Given the description of an element on the screen output the (x, y) to click on. 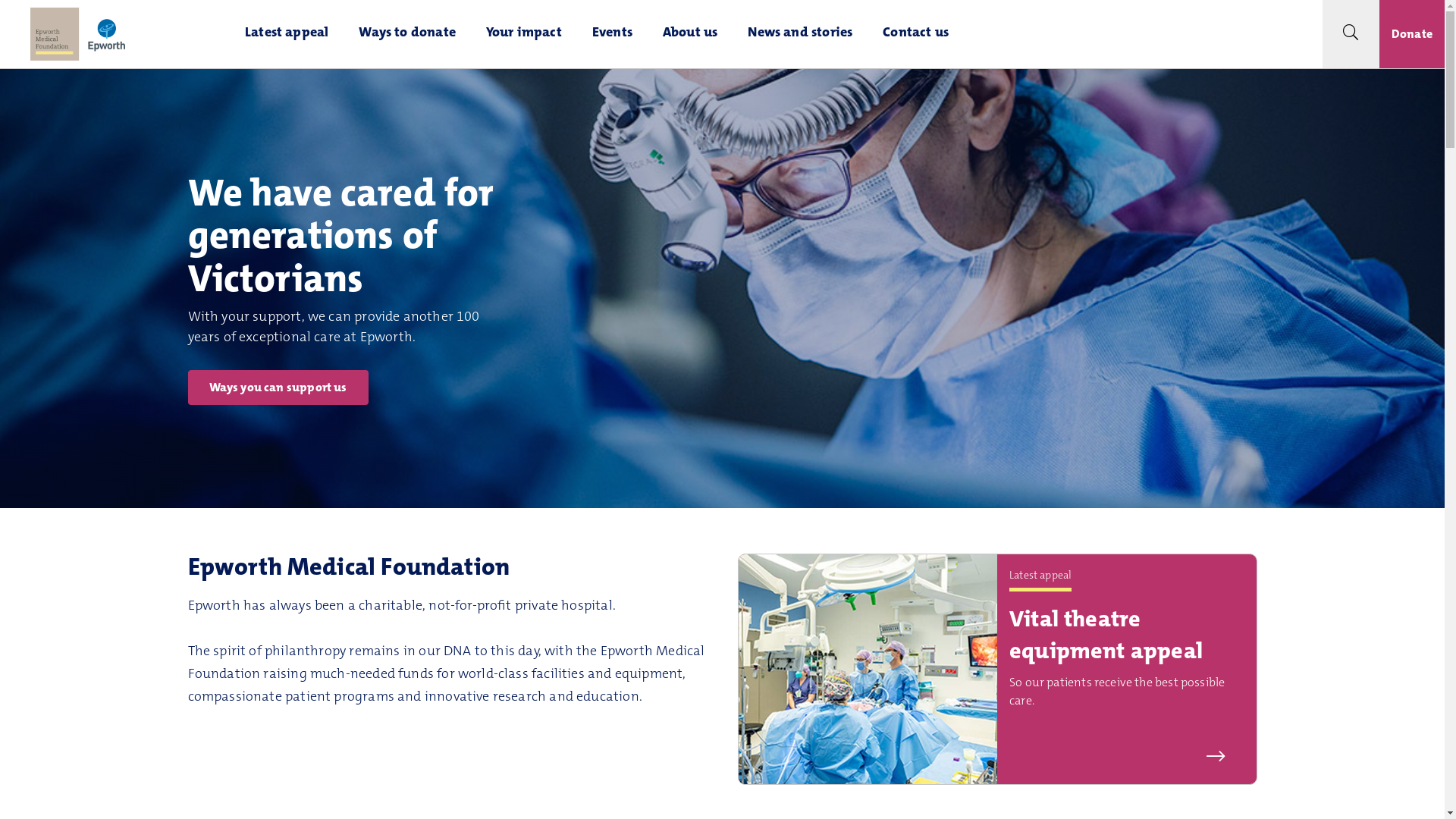
Search toggle Element type: text (1350, 34)
Events Element type: text (612, 34)
News and stories Element type: text (799, 34)
Ways you can support us Element type: text (278, 387)
Latest appeal Element type: text (286, 34)
Vital theatre equipment appeal Element type: text (1105, 636)
Your impact Element type: text (523, 34)
About us Element type: text (689, 34)
Contact us Element type: text (915, 34)
Ways to donate Element type: text (406, 34)
Donate Element type: text (1411, 34)
